Given the description of an element on the screen output the (x, y) to click on. 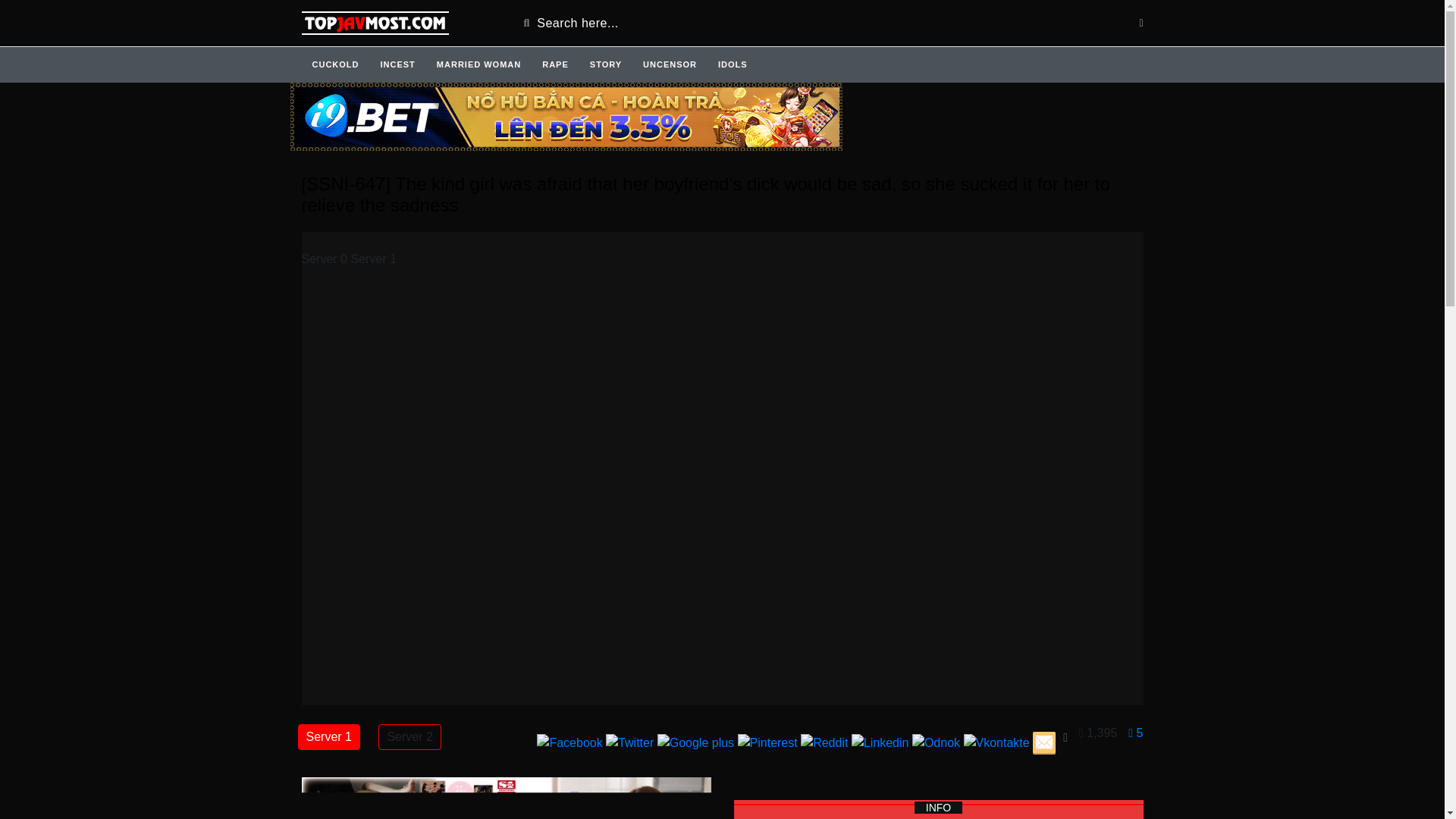
CUCKOLD (335, 64)
MARRIED WOMAN (478, 64)
5 (1147, 742)
Cuckold (335, 64)
STORY (605, 64)
IDOLS (732, 64)
Married Woman (478, 64)
Idols (732, 64)
UNCENSOR (669, 64)
INCEST (397, 64)
Uncensor (669, 64)
RAPE (555, 64)
Incest (397, 64)
Story (605, 64)
Rape (555, 64)
